Given the description of an element on the screen output the (x, y) to click on. 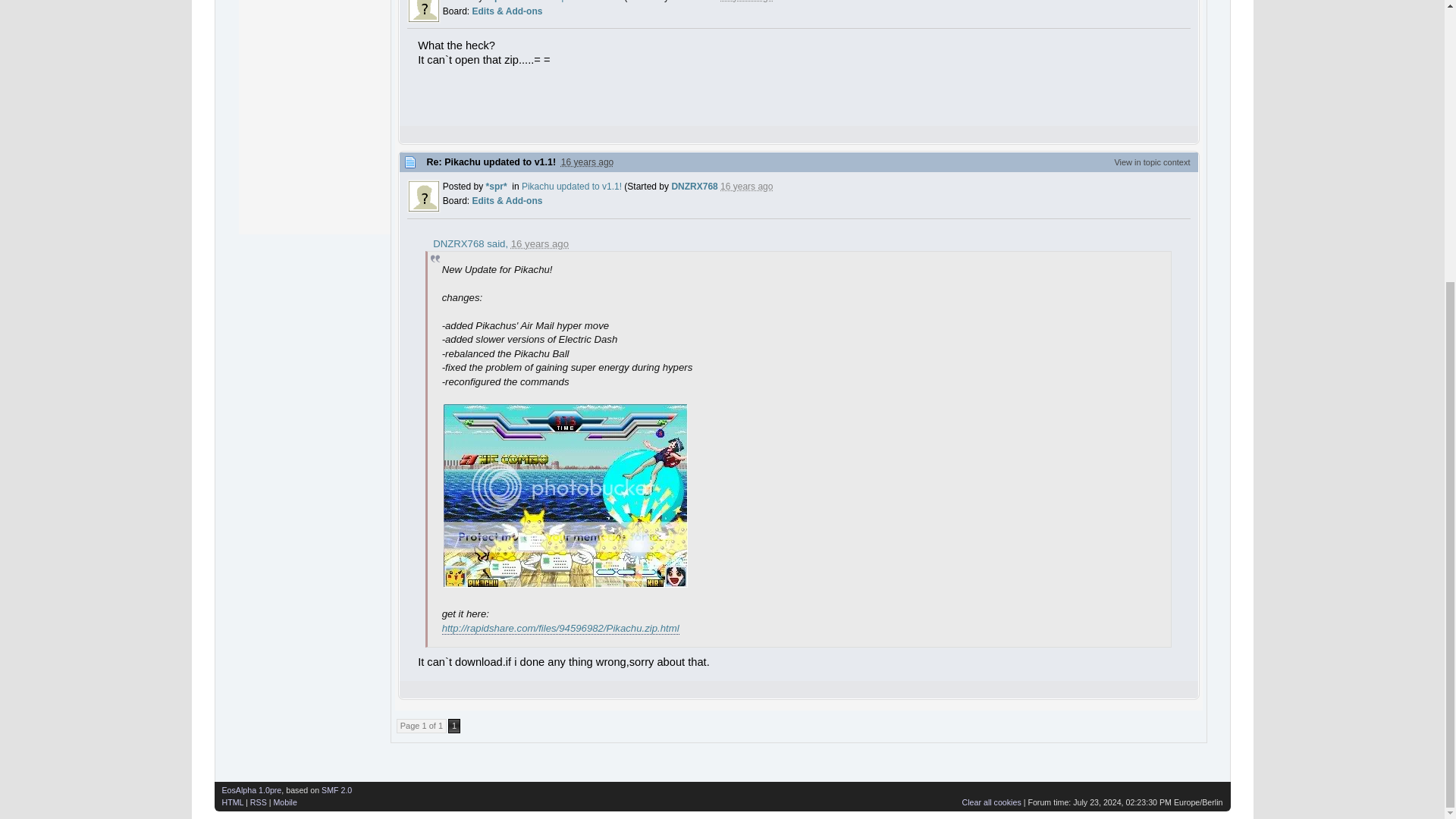
DNZRX768 (694, 185)
Valid HTML (232, 801)
February 24, 2008, 07:47:47 pm (746, 1)
SMF 2.0 (336, 789)
EosAlpha 1.0pre (251, 789)
Clear all cookies (992, 801)
DNZRX768 said, 16 years ago (500, 243)
RSS (258, 801)
February 24, 2008, 07:47:47 pm (540, 243)
February 24, 2008, 07:47:47 pm (746, 185)
EosAlpha BBS (251, 789)
HTML (232, 801)
Pikachu updated to v1.1! (571, 185)
April 15, 2008, 05:26:48 pm (586, 162)
View in topic context (1151, 162)
